Given the description of an element on the screen output the (x, y) to click on. 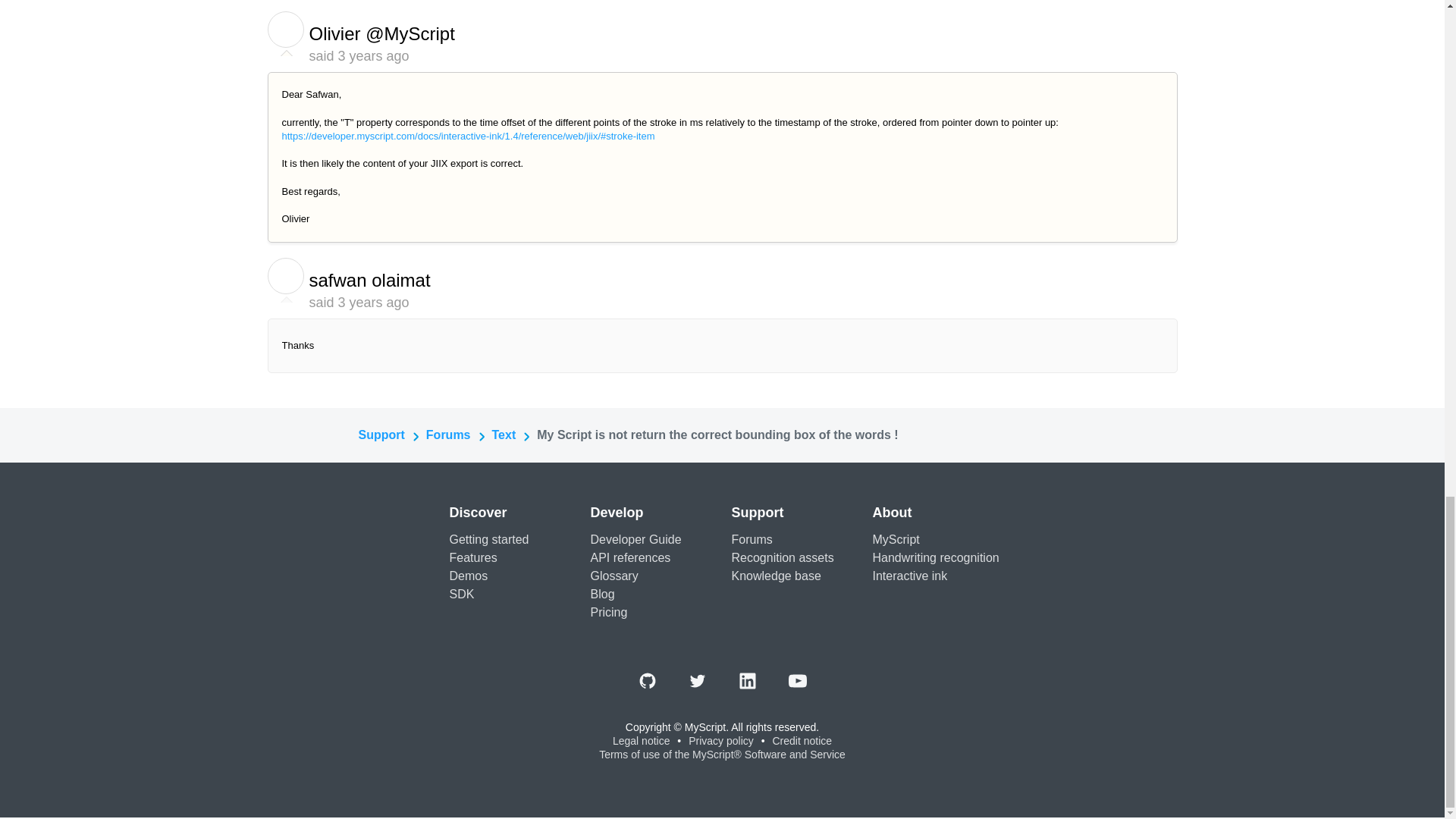
Handwriting recognition (935, 557)
Forums (448, 434)
API references (629, 557)
Wed, 10 Mar, 2021 at  3:07 PM (373, 55)
Forums (750, 539)
SDK (461, 594)
Developer Guide (635, 539)
Text (503, 434)
Features (472, 557)
Demos (467, 575)
Support (381, 434)
Recognition assets (781, 557)
Knowledge base (775, 575)
Getting started (488, 539)
Pricing (608, 612)
